Given the description of an element on the screen output the (x, y) to click on. 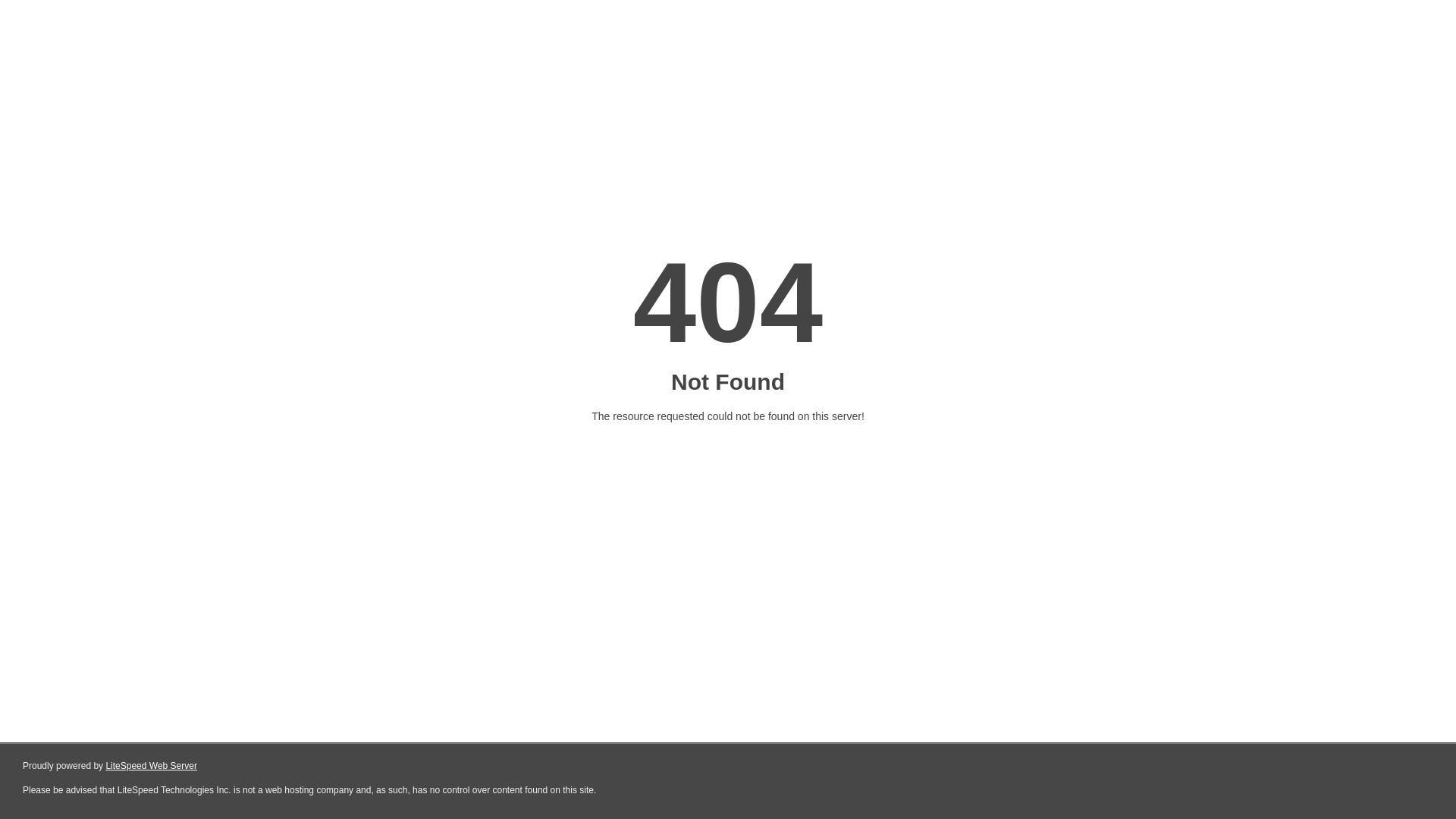
LiteSpeed Web Server Element type: text (151, 765)
